Given the description of an element on the screen output the (x, y) to click on. 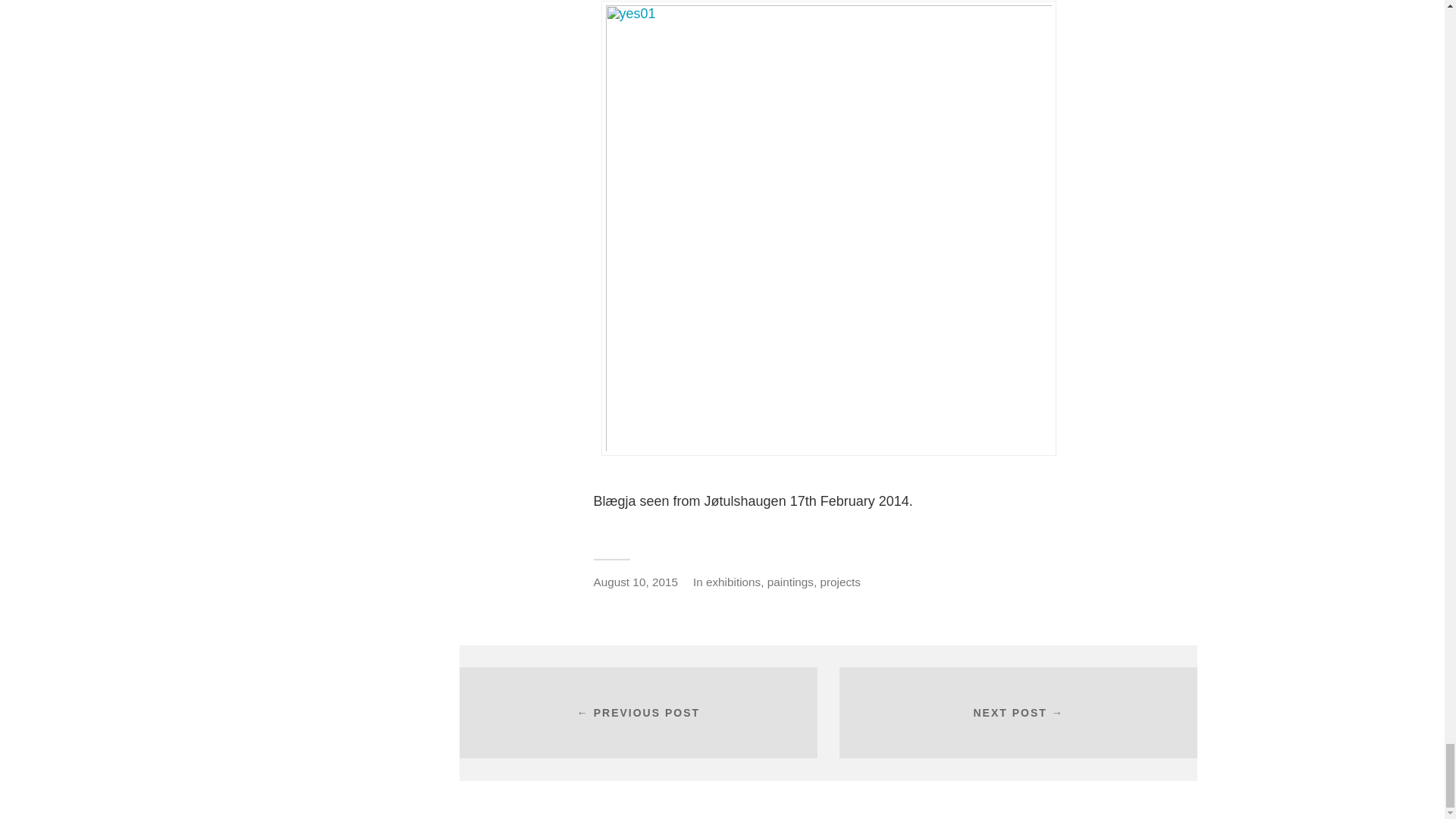
August 10, 2015 (634, 581)
